Given the description of an element on the screen output the (x, y) to click on. 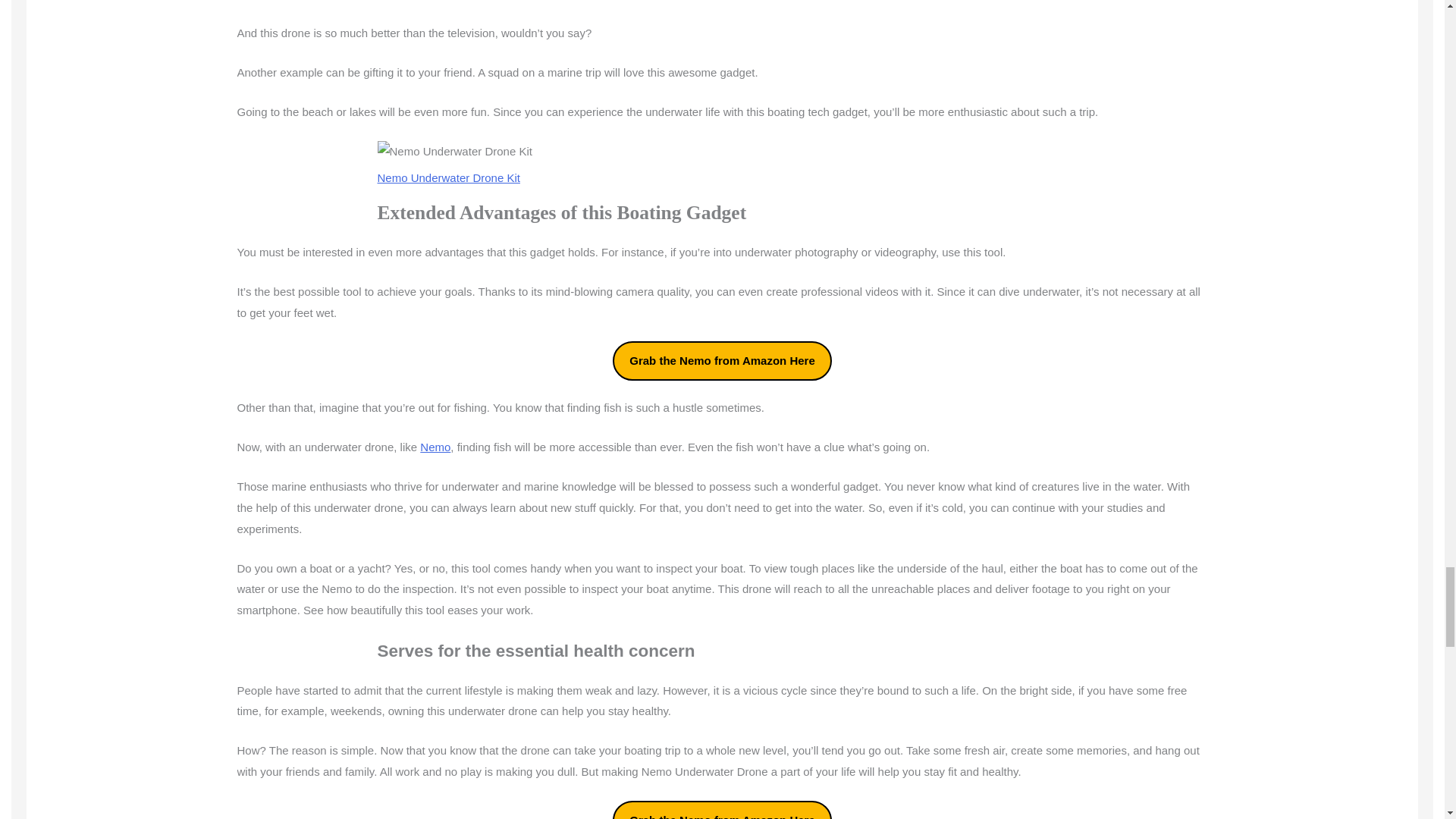
Nemo (434, 446)
Grab the Nemo from Amazon Here (721, 360)
Grab the Nemo from Amazon Here (721, 809)
Nemo Underwater Drone Kit (448, 177)
